Given the description of an element on the screen output the (x, y) to click on. 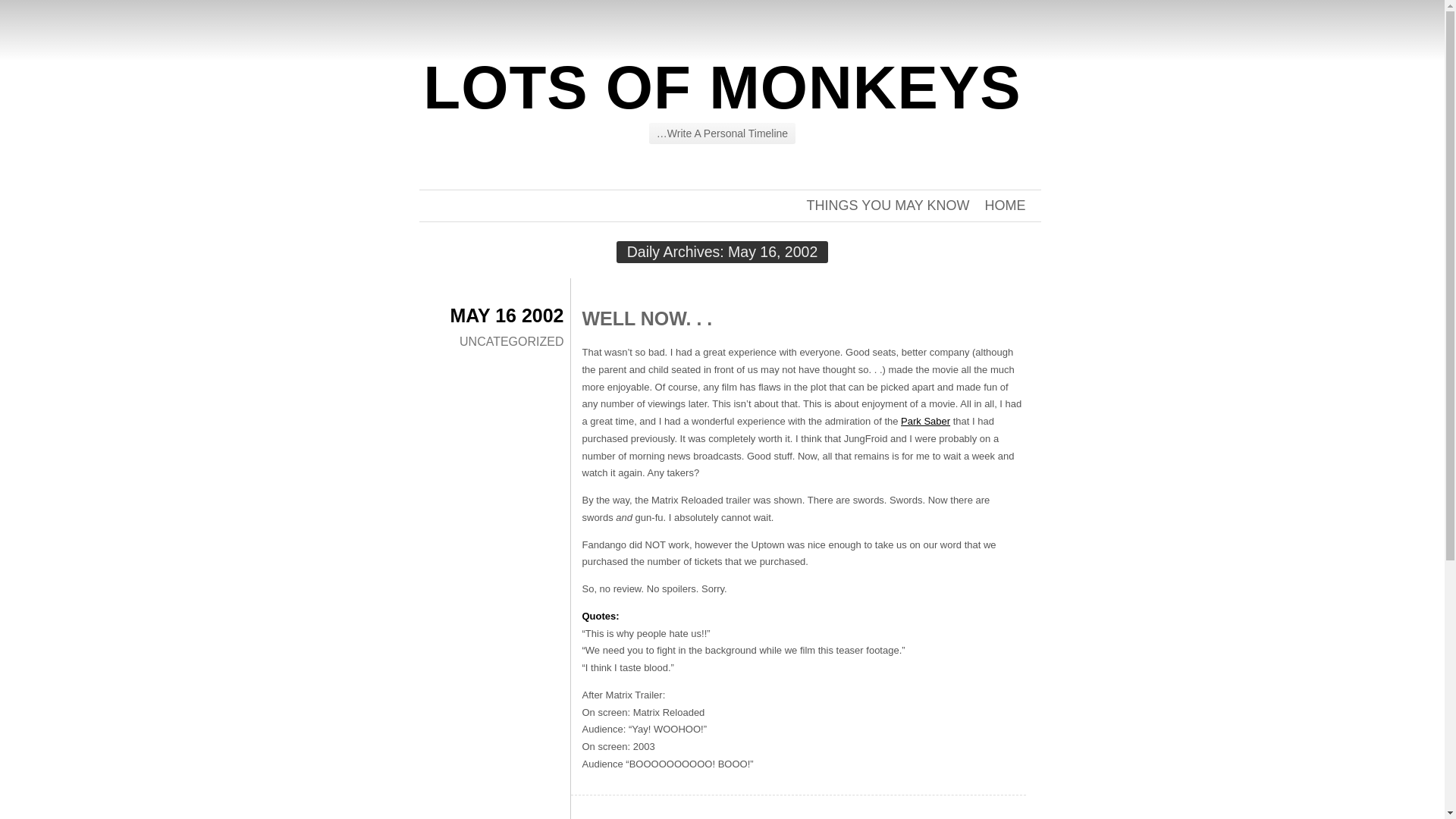
UNCATEGORIZED (511, 341)
MAY 16 2002 (506, 314)
Park Saber (925, 420)
Lots of Monkeys (721, 87)
LOTS OF MONKEYS (721, 87)
WELL NOW. . . (647, 318)
THINGS YOU MAY KNOW (887, 205)
HOME (1004, 205)
